Given the description of an element on the screen output the (x, y) to click on. 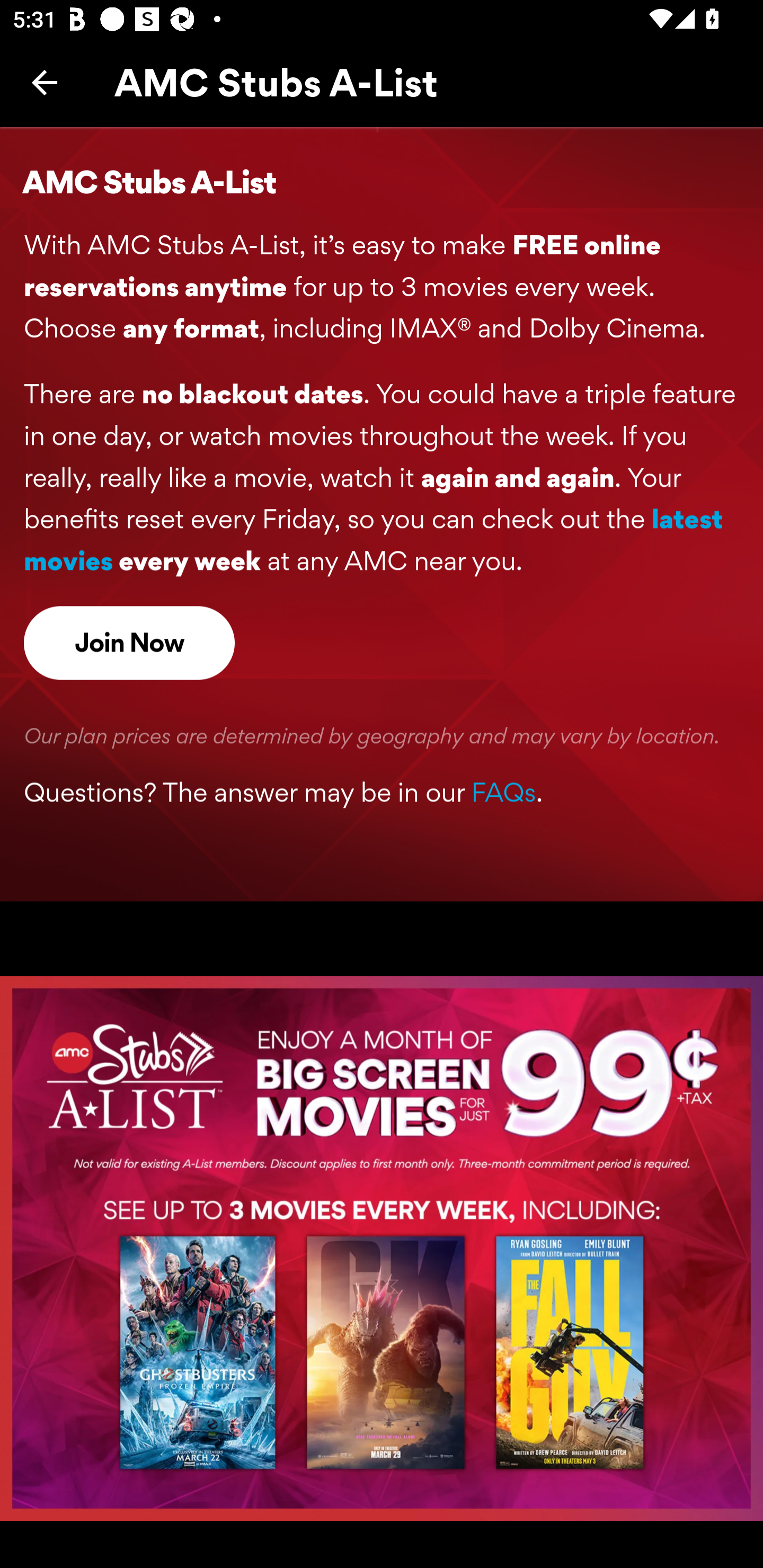
Back (44, 82)
latest movies (373, 540)
Join Now (129, 643)
FAQs (503, 793)
